Given the description of an element on the screen output the (x, y) to click on. 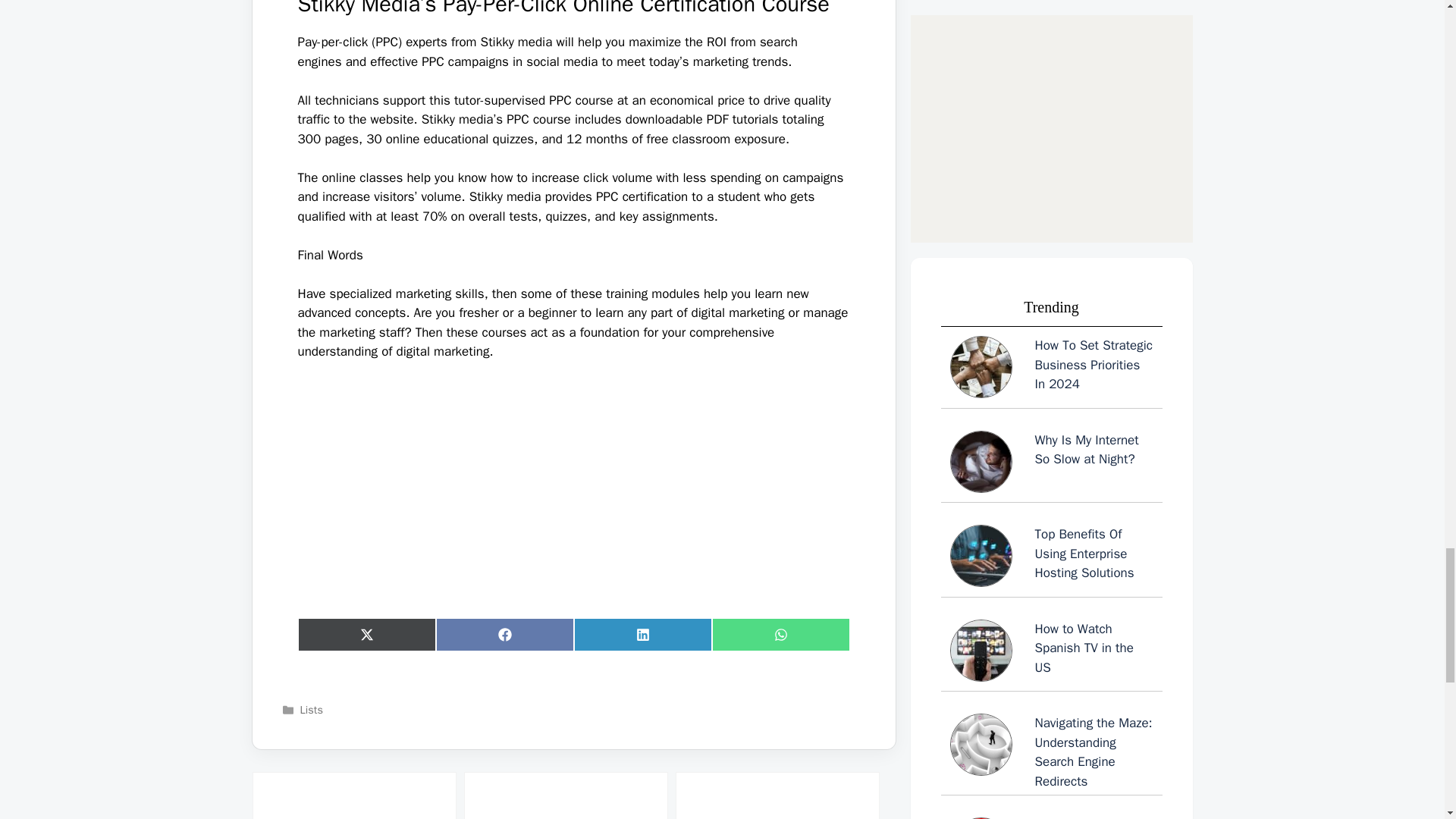
Top Highest Paying Digital Marketing Jobs (353, 795)
SHARE ON LINKEDIN (642, 634)
Top 5 IoT Mobile App Development Platforms (777, 795)
SHARE ON FACEBOOK (504, 634)
Lists (311, 709)
SHARE ON WHATSAPP (779, 634)
